Given the description of an element on the screen output the (x, y) to click on. 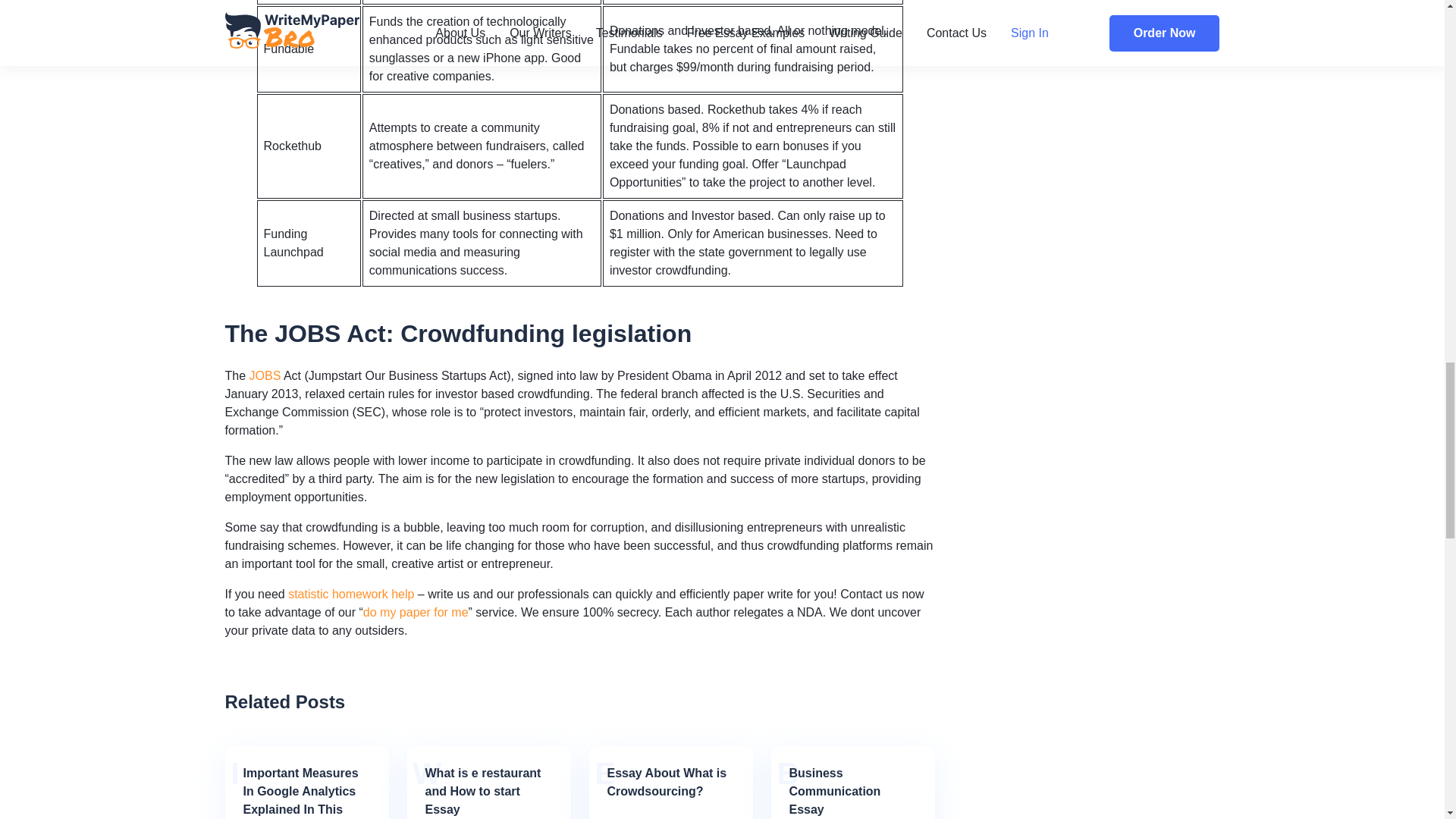
JOBS (264, 375)
statistic homework help (350, 594)
do my paper for me (415, 612)
